Given the description of an element on the screen output the (x, y) to click on. 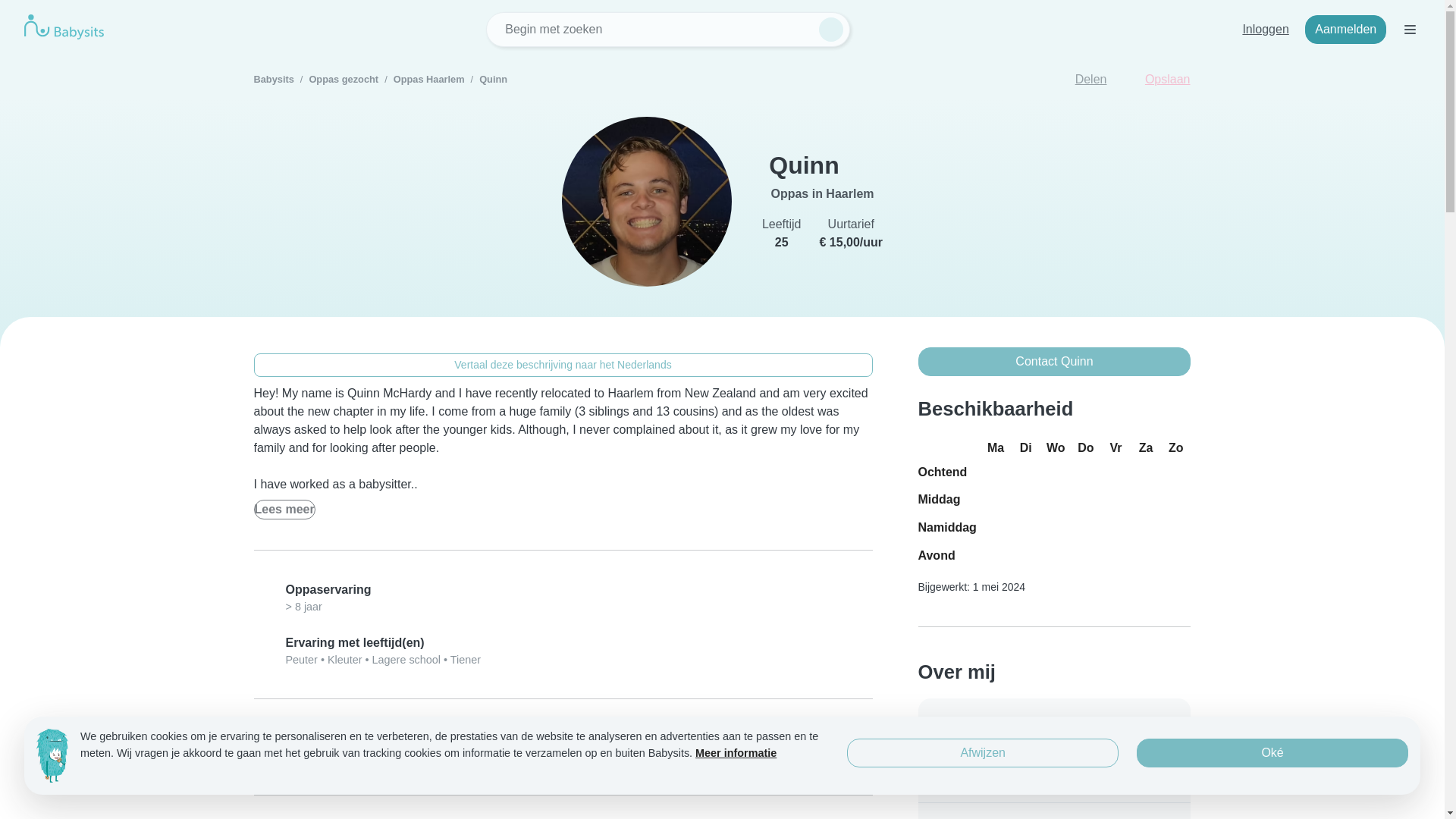
Aanmelden (1345, 29)
Babysits (273, 78)
Oppas gezocht (343, 78)
Inloggen (1264, 29)
Meer informatie (568, 756)
Quinn heeft een officieel identiteitsbewijs verstrekt. (860, 165)
Oppas in Haarlem (821, 193)
Opslaan (1157, 79)
Vertaal deze beschrijving naar het Nederlands (562, 364)
Begin met zoeken (668, 29)
Lees meer (283, 509)
Oppas Haarlem (428, 78)
Delen (1081, 79)
